Given the description of an element on the screen output the (x, y) to click on. 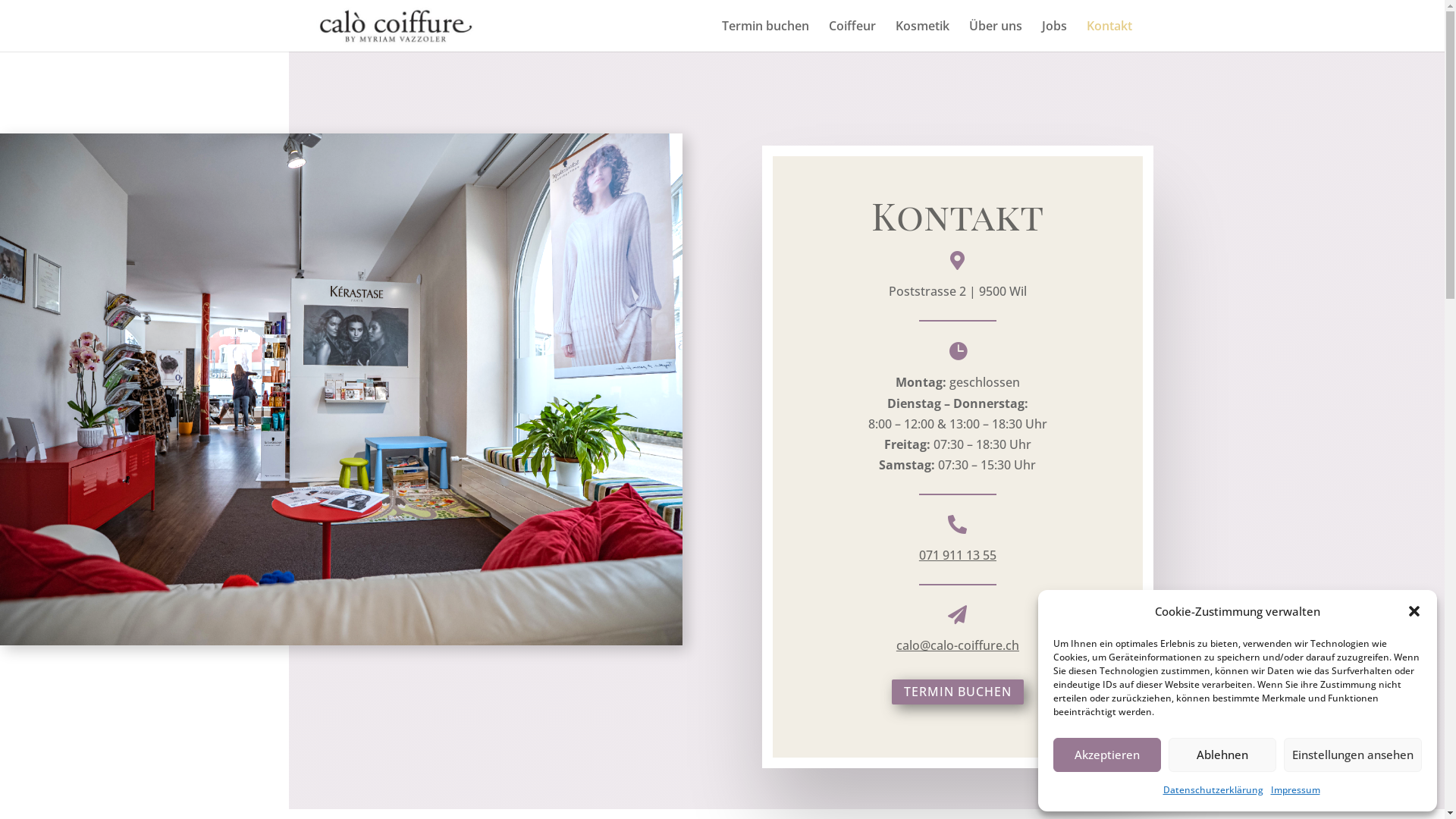
Jobs Element type: text (1053, 35)
calo@calo-coiffure.ch Element type: text (957, 645)
Einstellungen ansehen Element type: text (1352, 754)
Kosmetik Element type: text (921, 35)
Termin buchen Element type: text (765, 35)
Kontakt_Bild2 Element type: hover (341, 389)
Akzeptieren Element type: text (1107, 754)
Kontakt Element type: text (1108, 35)
TERMIN BUCHEN Element type: text (957, 691)
Coiffeur Element type: text (851, 35)
Ablehnen Element type: text (1222, 754)
071 911 13 55 Element type: text (957, 554)
Impressum Element type: text (1295, 789)
